Given the description of an element on the screen output the (x, y) to click on. 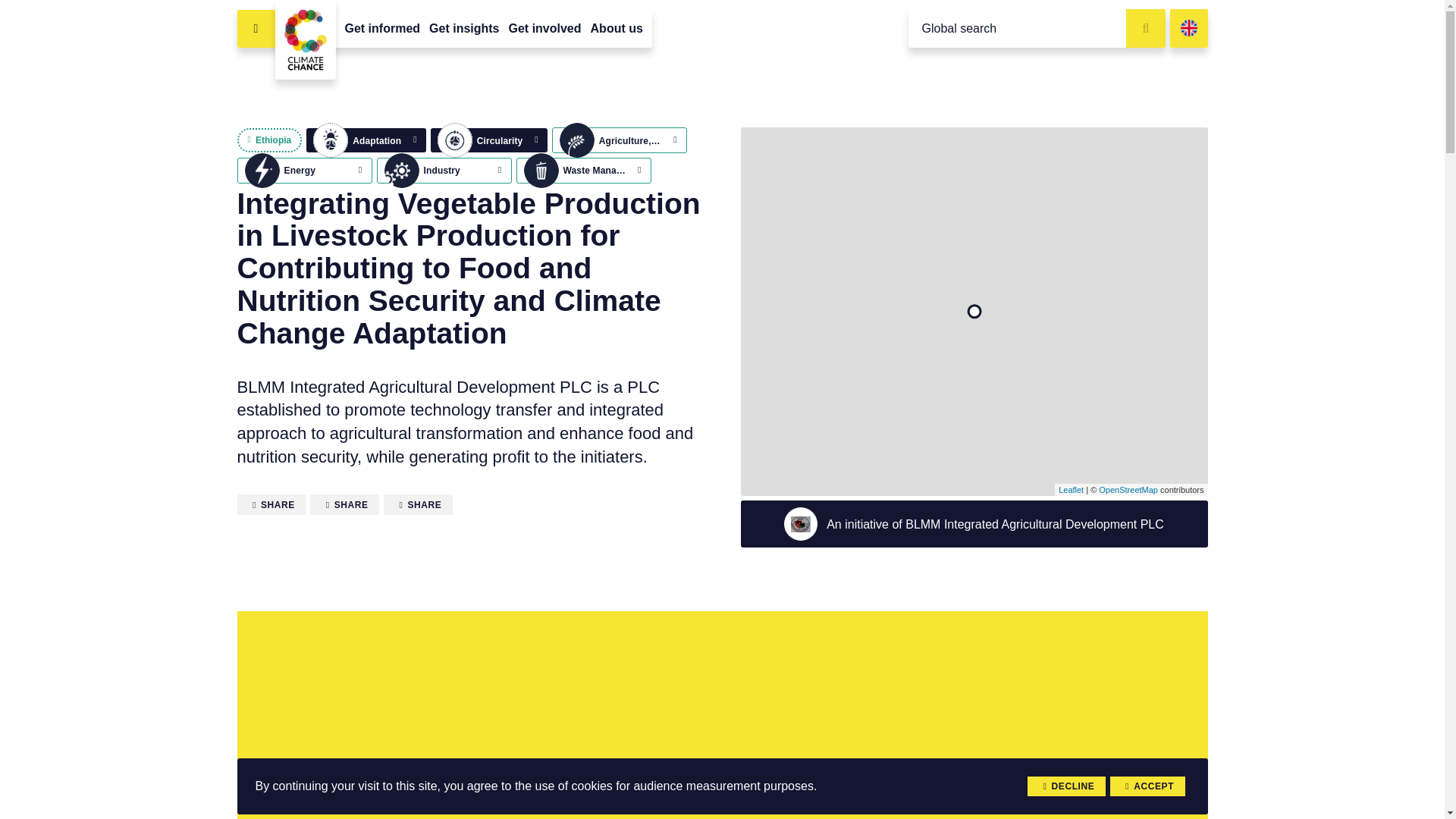
A JS library for interactive maps (1070, 489)
